Given the description of an element on the screen output the (x, y) to click on. 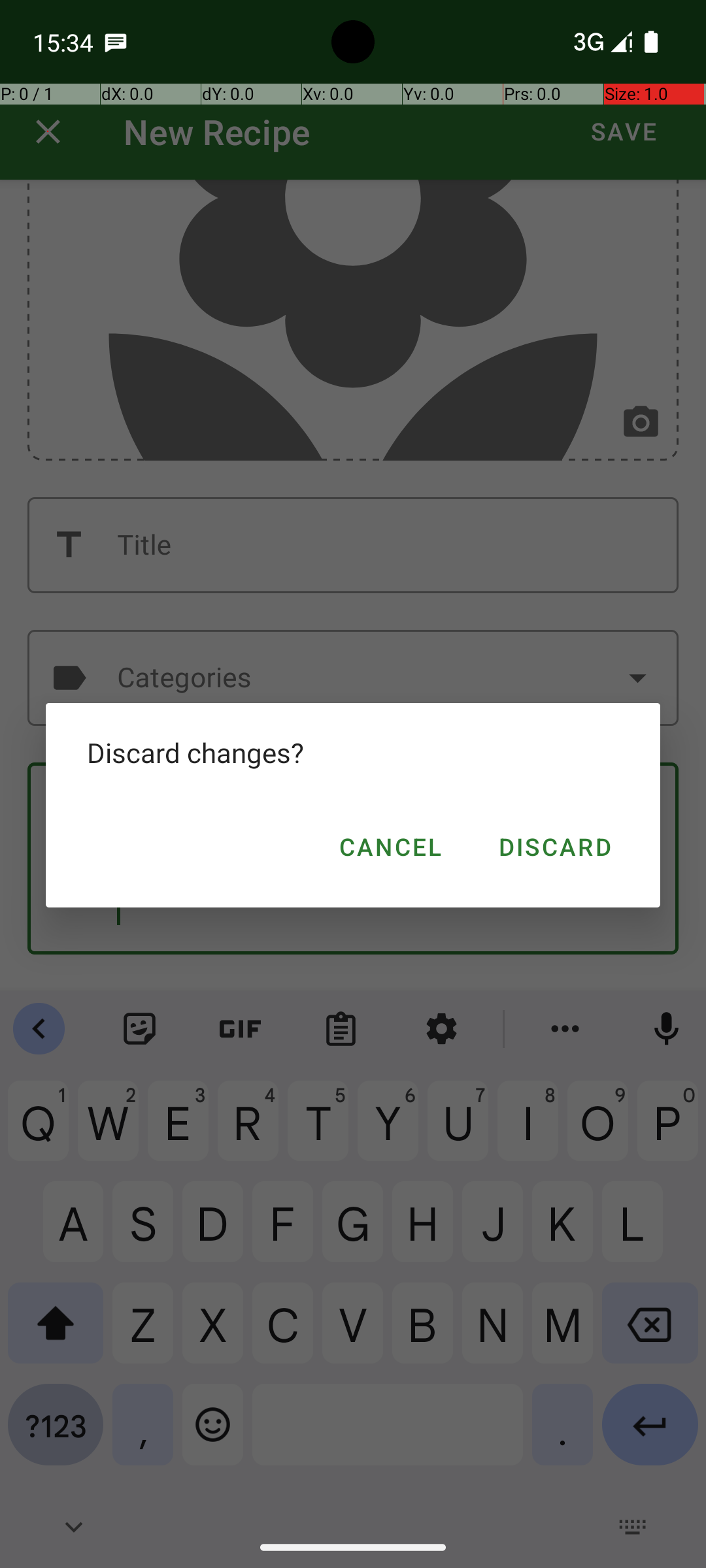
Discard changes? Element type: android.widget.TextView (352, 751)
DISCARD Element type: android.widget.Button (554, 846)
